Given the description of an element on the screen output the (x, y) to click on. 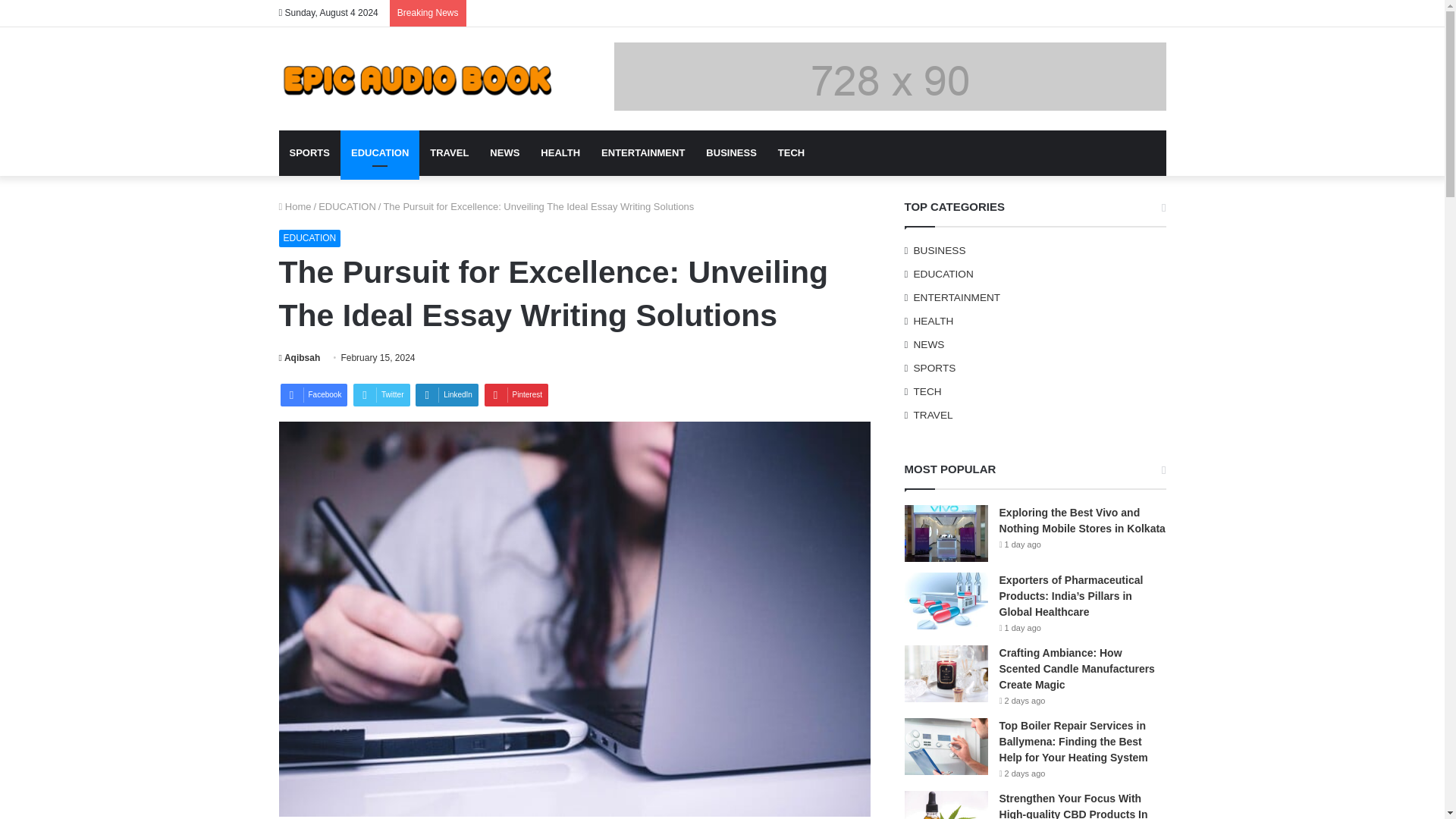
Pinterest (516, 395)
TECH (791, 153)
EDUCATION (379, 153)
Aqibsah (299, 357)
EDUCATION (309, 238)
BUSINESS (731, 153)
Epic Audio Book (419, 78)
HEALTH (560, 153)
TRAVEL (449, 153)
Twitter (381, 395)
SPORTS (309, 153)
Twitter (381, 395)
Facebook (314, 395)
LinkedIn (446, 395)
NEWS (504, 153)
